Given the description of an element on the screen output the (x, y) to click on. 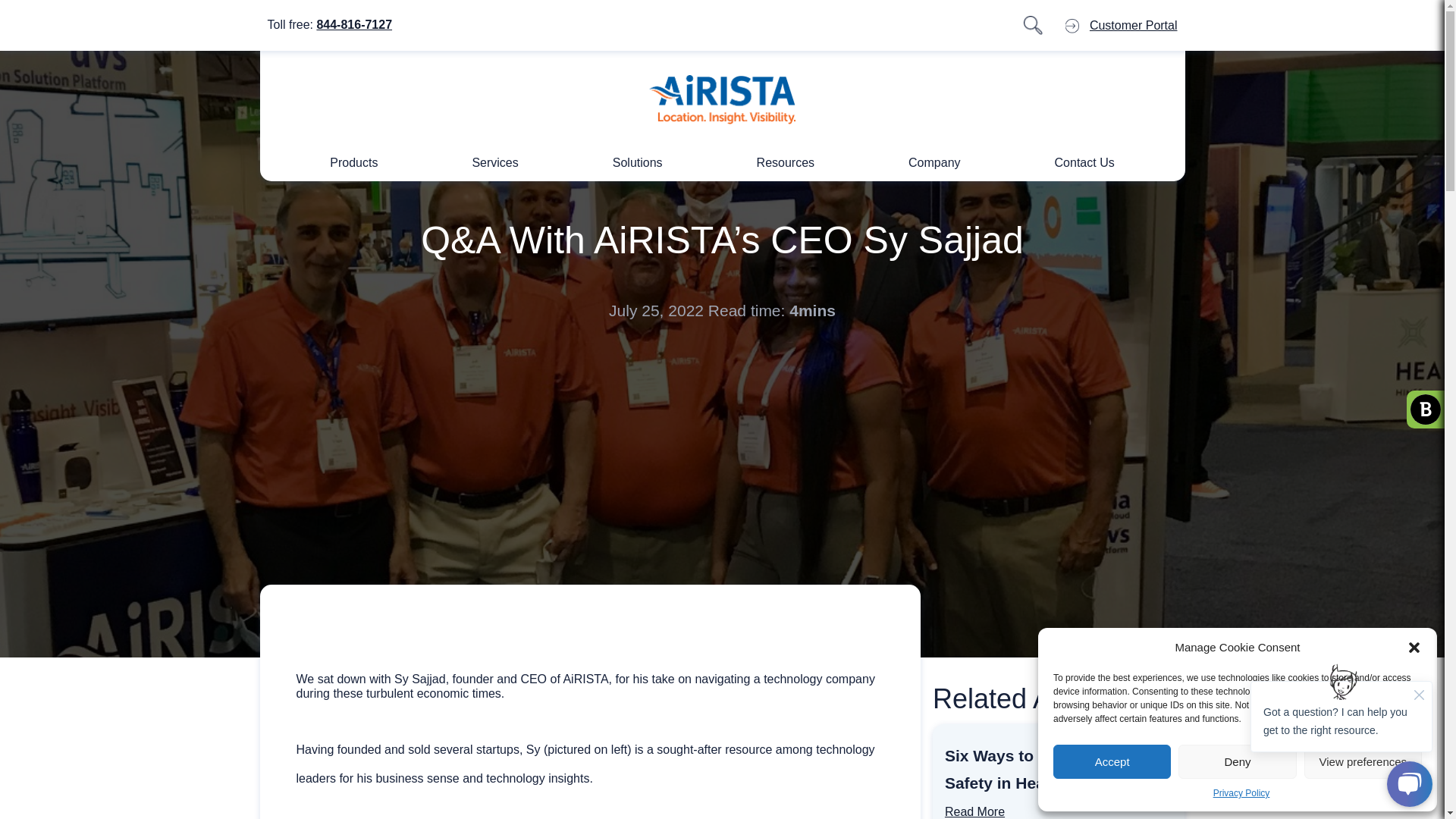
Accept (1111, 761)
Services (494, 162)
Privacy Policy (1240, 793)
844-816-7127 (353, 24)
Products (353, 162)
Solutions (636, 162)
Customer Portal (1133, 24)
View preferences (1363, 761)
Deny (1236, 761)
